Given the description of an element on the screen output the (x, y) to click on. 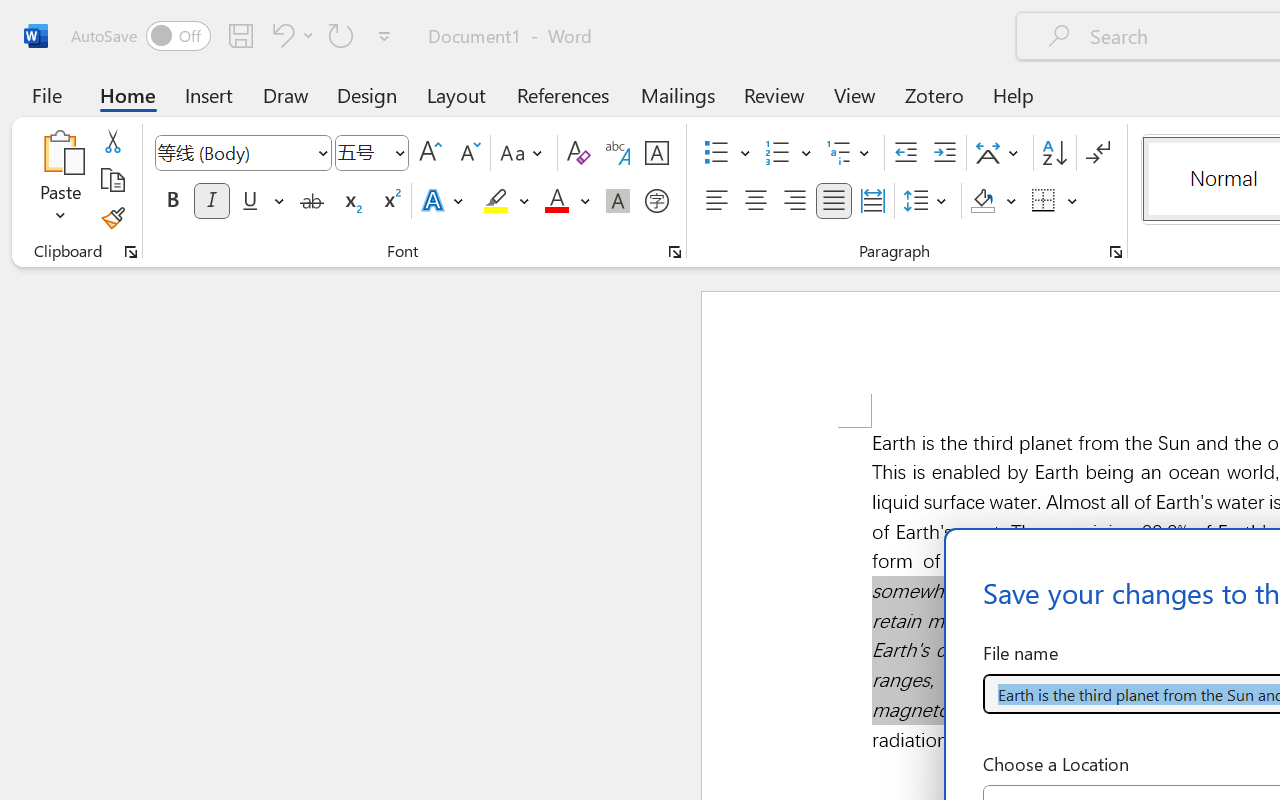
Font... (675, 252)
Sort... (1054, 153)
Font Color (567, 201)
Phonetic Guide... (618, 153)
Character Border (656, 153)
Decrease Indent (906, 153)
Align Left (716, 201)
Undo Italic (290, 35)
